Given the description of an element on the screen output the (x, y) to click on. 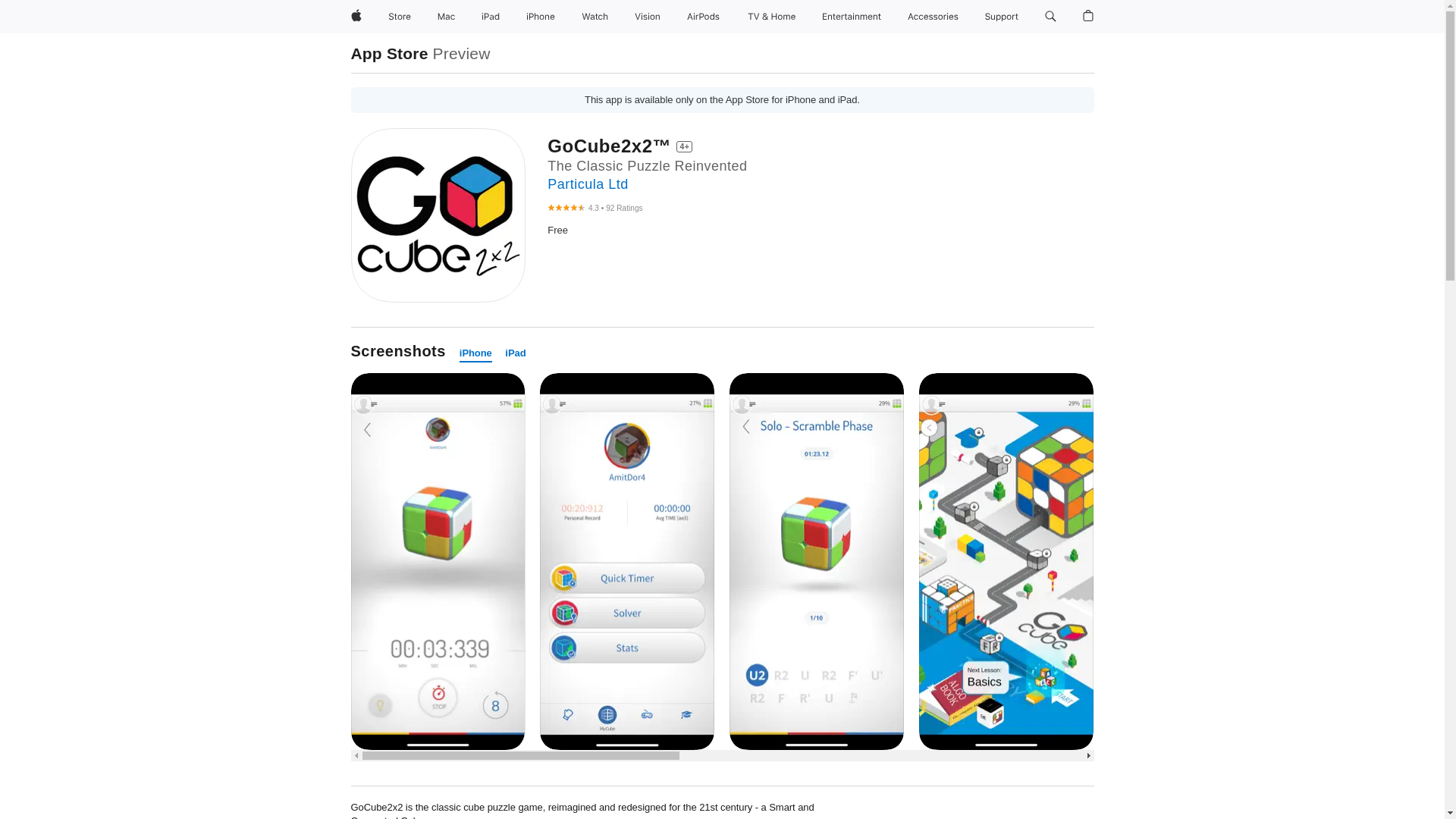
App Store (389, 53)
iPhone (476, 353)
Particula Ltd (587, 183)
Watch (594, 16)
iPad (515, 353)
Support (1001, 16)
Vision (647, 16)
iPhone (539, 16)
Store (398, 16)
Entertainment (851, 16)
iPad (490, 16)
AirPods (703, 16)
Accessories (932, 16)
